Given the description of an element on the screen output the (x, y) to click on. 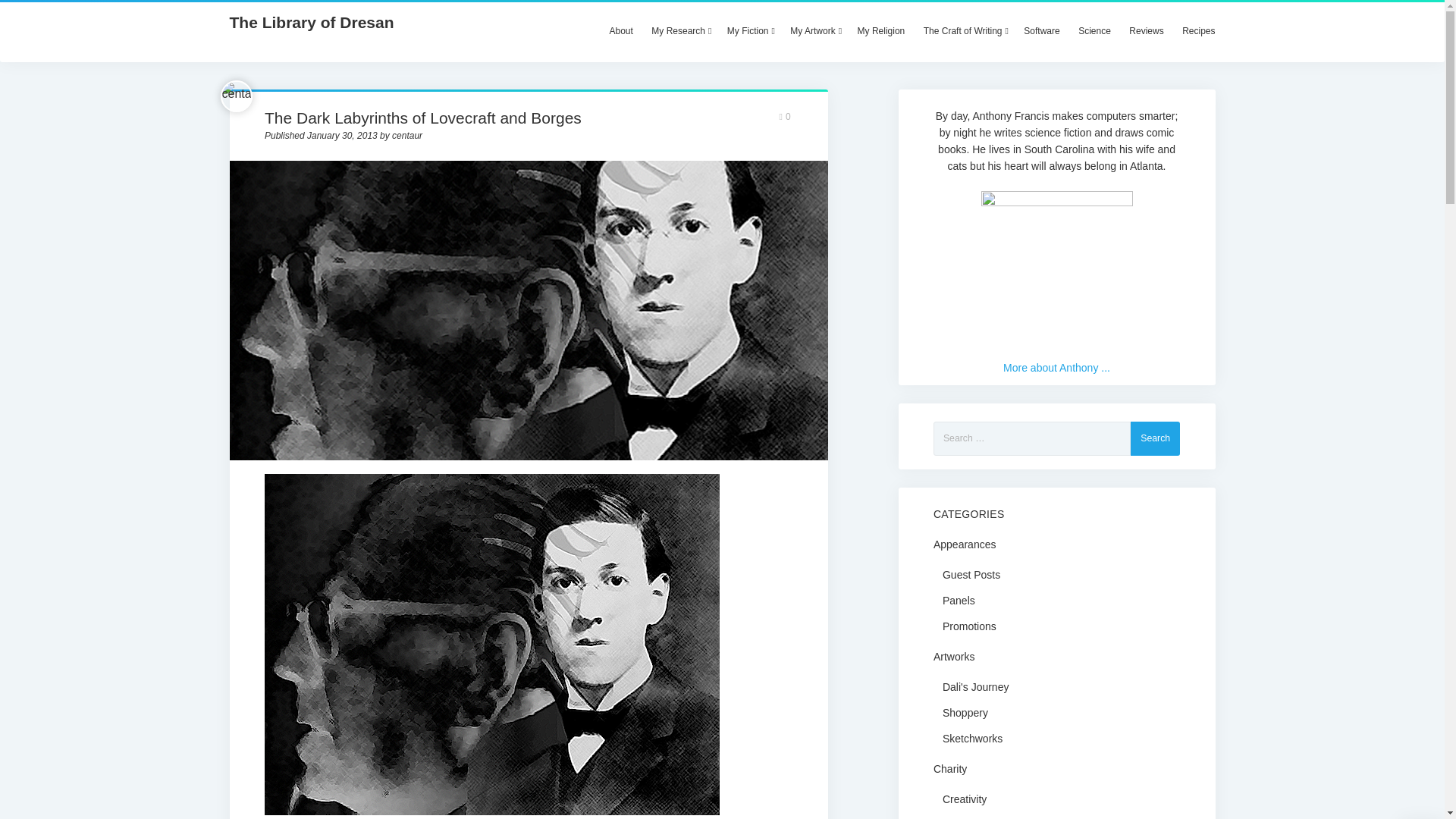
The Craft of Writing (964, 31)
Recipes (1198, 31)
My Fiction (748, 31)
About (620, 31)
My Artwork (813, 31)
The Library of Dresan (310, 22)
Software (1041, 31)
Search (1155, 438)
Science (1093, 31)
Reviews (1145, 31)
